Given the description of an element on the screen output the (x, y) to click on. 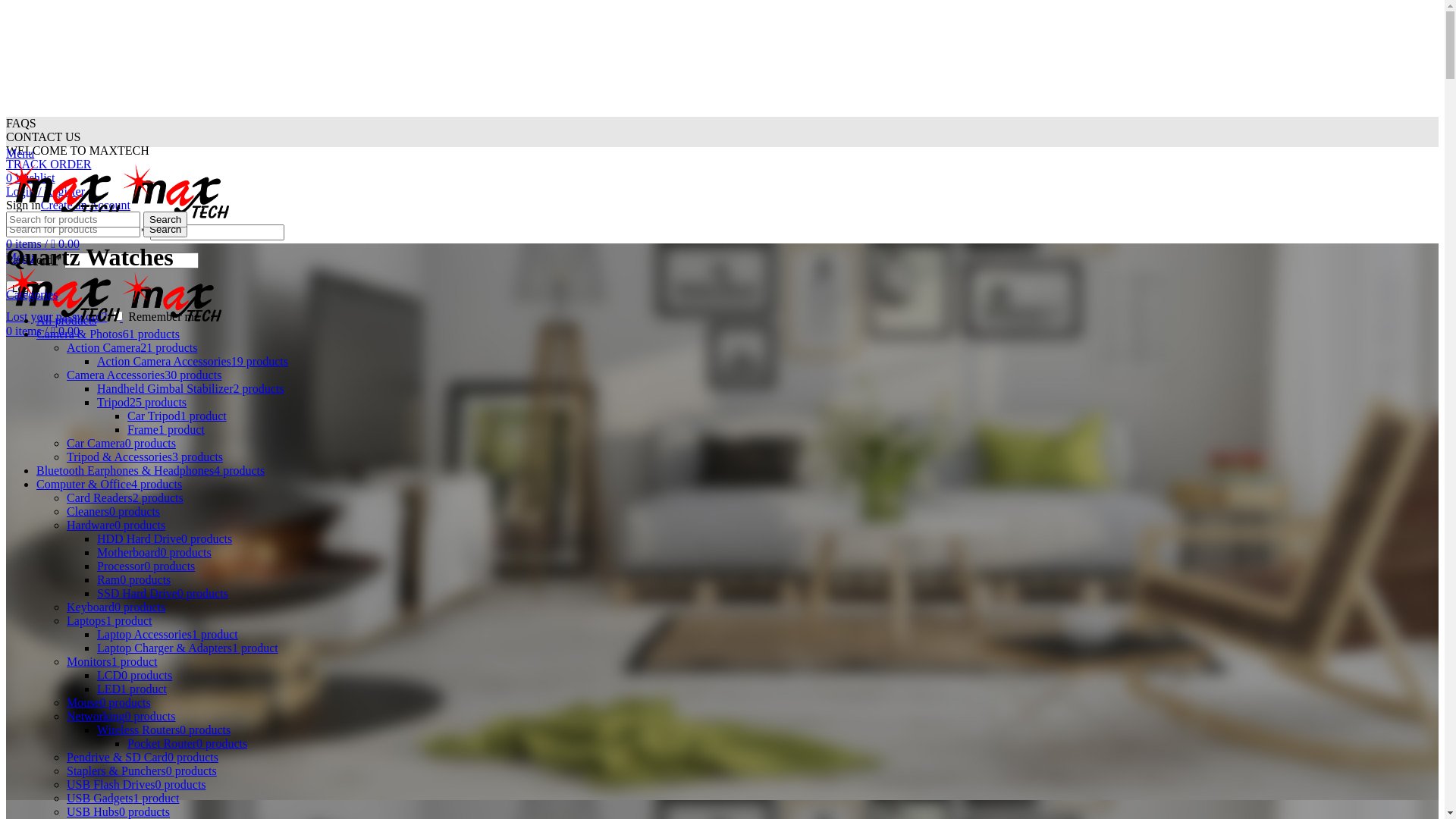
LED1 product Element type: text (131, 688)
Mouse0 products Element type: text (108, 702)
USB Hubs0 products Element type: text (117, 811)
Card Readers2 products Element type: text (124, 497)
Menu Element type: text (20, 153)
Cleaners0 products Element type: text (113, 511)
Categories Element type: text (31, 294)
Processor0 products Element type: text (145, 565)
0 Wishlist Element type: text (30, 177)
Laptops1 product Element type: text (108, 620)
Tripod25 products Element type: text (141, 401)
USB Flash Drives0 products Element type: text (136, 784)
Motherboard0 products Element type: text (154, 552)
Camera & Photos61 products Element type: text (107, 333)
Action Camera Accessories19 products Element type: text (192, 360)
Frame1 product Element type: text (165, 429)
Search Element type: text (165, 229)
Computer & Office4 products Element type: text (109, 483)
Search for products Element type: hover (73, 219)
Log in Element type: text (25, 288)
Wireless Routers0 products Element type: text (163, 729)
Create an Account Element type: text (85, 204)
LCD0 products Element type: text (134, 674)
Handheld Gimbal Stabilizer2 products Element type: text (190, 388)
Search Element type: text (165, 219)
Car Camera0 products Element type: text (120, 442)
Search for products Element type: hover (73, 229)
Lost your password? Element type: text (56, 316)
Ram0 products Element type: text (133, 579)
Remember me Element type: hover (117, 315)
SSD Hard Drive0 products Element type: text (162, 592)
Staplers & Punchers0 products Element type: text (141, 770)
Laptop Charger & Adapters1 product Element type: text (187, 647)
Menu Element type: text (20, 257)
Camera Accessories30 products Element type: text (143, 374)
Networking0 products Element type: text (120, 715)
All products Element type: text (66, 319)
TRACK ORDER Element type: text (48, 163)
HDD Hard Drive0 products Element type: text (164, 538)
USB Gadgets1 product Element type: text (122, 797)
Action Camera21 products Element type: text (131, 347)
Keyboard0 products Element type: text (115, 606)
Bluetooth Earphones & Headphones4 products Element type: text (150, 470)
Monitors1 product Element type: text (111, 661)
Pendrive & SD Card0 products Element type: text (142, 756)
Hardware0 products Element type: text (115, 524)
Car Tripod1 product Element type: text (176, 415)
Pocket Router0 products Element type: text (187, 743)
Login / Register Element type: text (45, 191)
Laptop Accessories1 product Element type: text (167, 633)
Tripod & Accessories3 products Element type: text (144, 456)
